Given the description of an element on the screen output the (x, y) to click on. 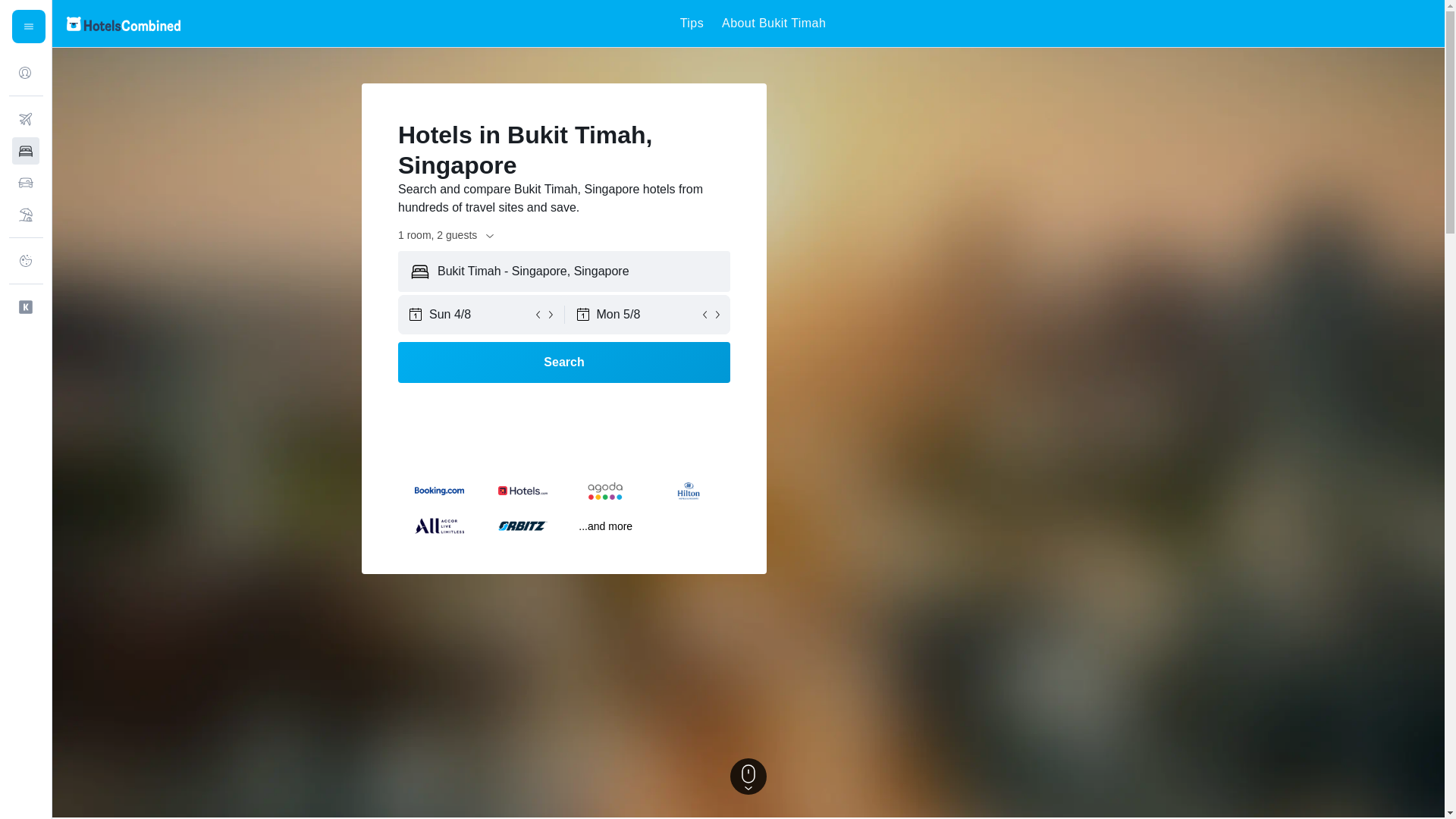
Search (563, 362)
Search (563, 362)
1 room, 2 guests (446, 235)
